Given the description of an element on the screen output the (x, y) to click on. 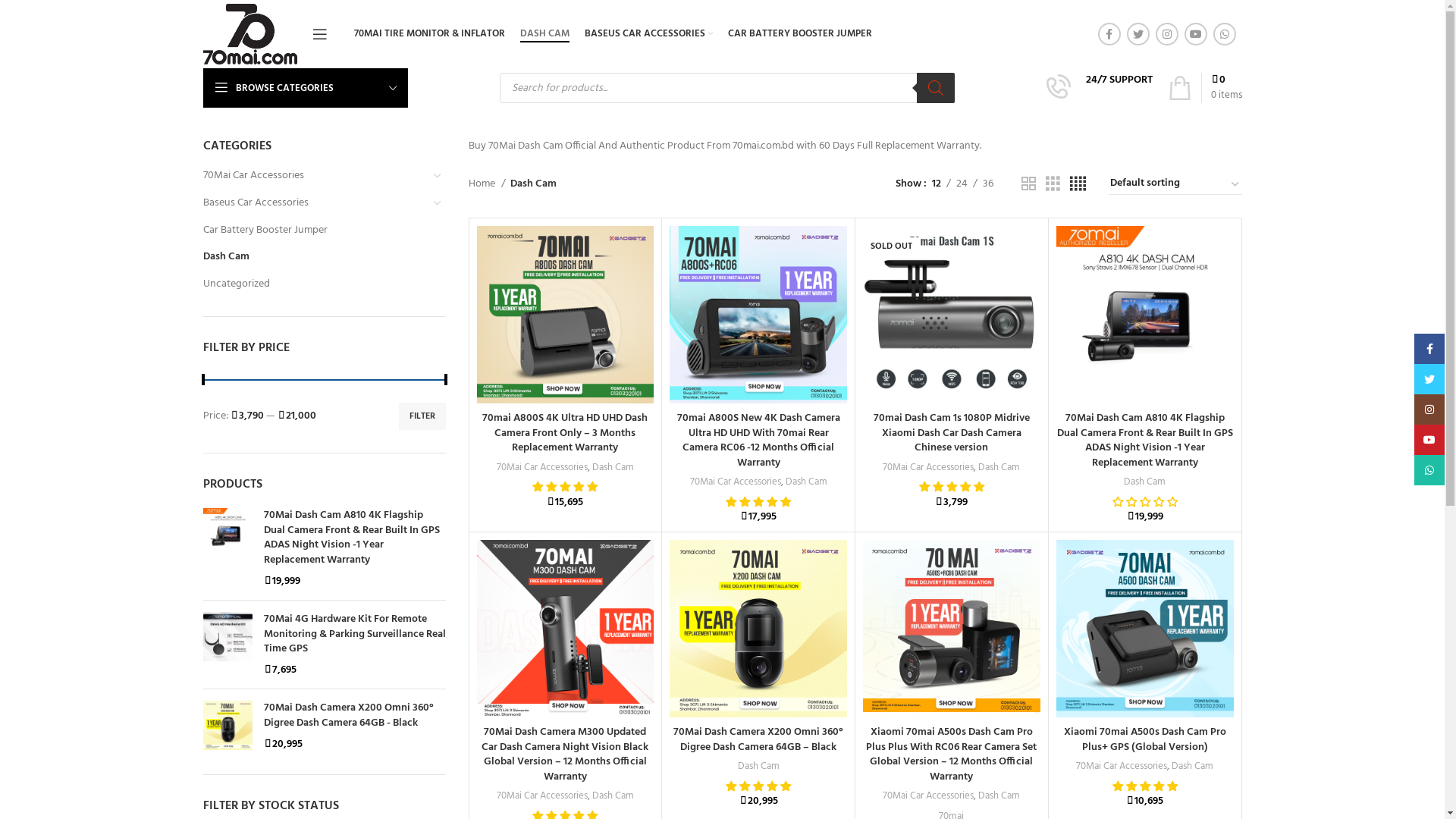
Dash Cam Element type: text (998, 467)
Dash Cam Element type: text (1144, 481)
Baseus Car Accessories Element type: text (314, 202)
36 Element type: text (987, 183)
24 Element type: text (961, 183)
70Mai Car Accessories Element type: text (541, 467)
Dash Cam Element type: text (758, 766)
Dash Cam Element type: text (806, 481)
Dash Cam Element type: text (612, 795)
Home Element type: text (486, 183)
70MAI TIRE MONITOR & INFLATOR Element type: text (429, 33)
Dash Cam Element type: text (1192, 766)
70Mai Car Accessories Element type: text (735, 481)
Dash Cam Element type: text (612, 467)
CAR BATTERY BOOSTER JUMPER Element type: text (800, 33)
70Mai Car Accessories Element type: text (314, 175)
DASH CAM Element type: text (544, 33)
70Mai Car Accessories Element type: text (1121, 766)
70Mai Car Accessories Element type: text (927, 795)
BASEUS CAR ACCESSORIES Element type: text (648, 33)
Car Battery Booster Jumper Element type: text (314, 230)
Uncategorized Element type: text (314, 284)
70Mai Car Accessories Element type: text (541, 795)
24/7 SUPPORT
01303 020 101 Element type: text (1099, 87)
Xiaomi 70mai A500s Dash Cam Pro Plus+ GPS (Global Version) Element type: text (1144, 739)
12 Element type: text (936, 183)
70Mai Car Accessories Element type: text (927, 467)
Dash Cam Element type: text (998, 795)
SOLD OUT Element type: text (951, 314)
FILTER Element type: text (421, 415)
Dash Cam Element type: text (314, 256)
